Given the description of an element on the screen output the (x, y) to click on. 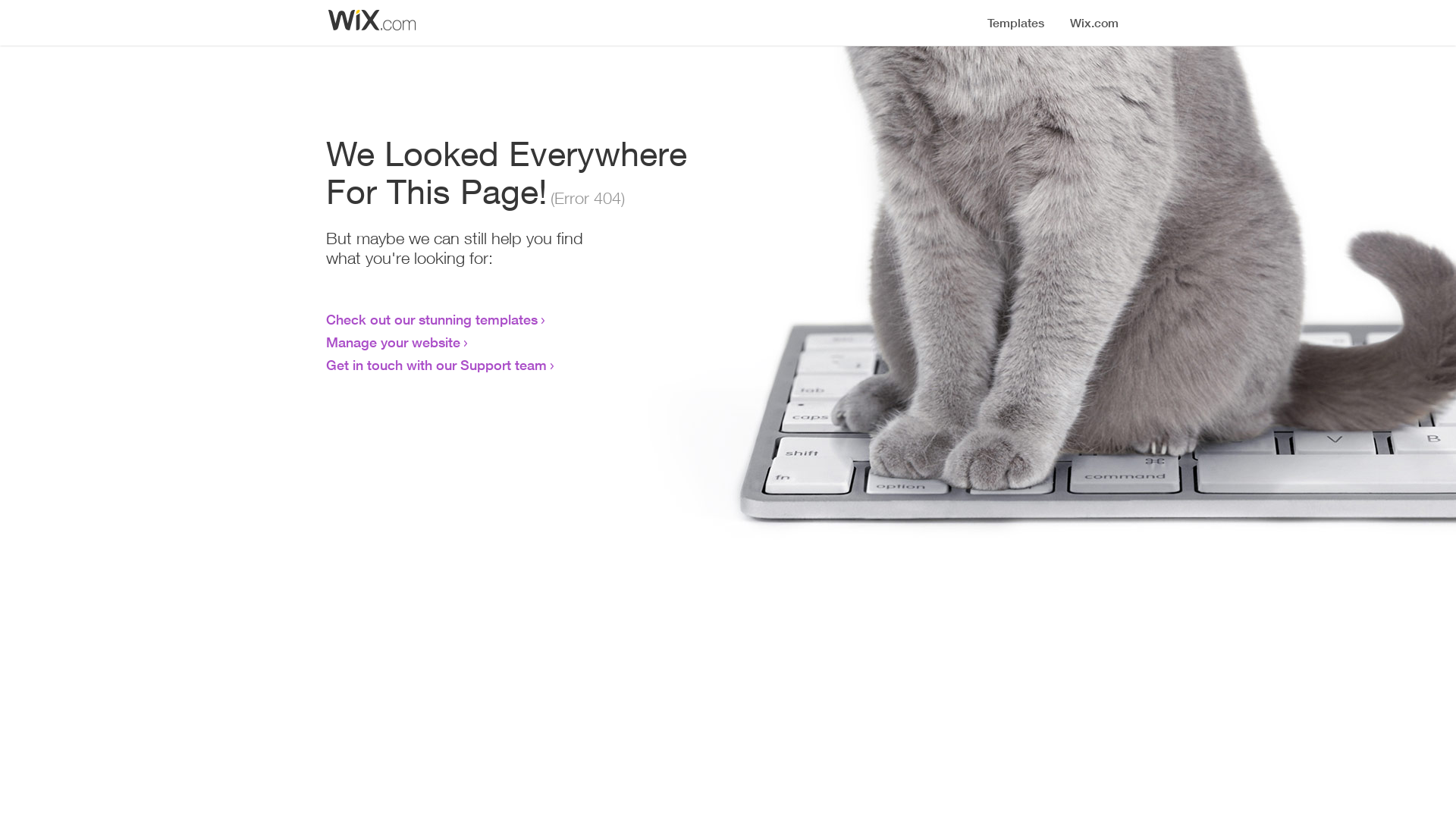
Check out our stunning templates Element type: text (431, 318)
Manage your website Element type: text (393, 341)
Get in touch with our Support team Element type: text (436, 364)
